Given the description of an element on the screen output the (x, y) to click on. 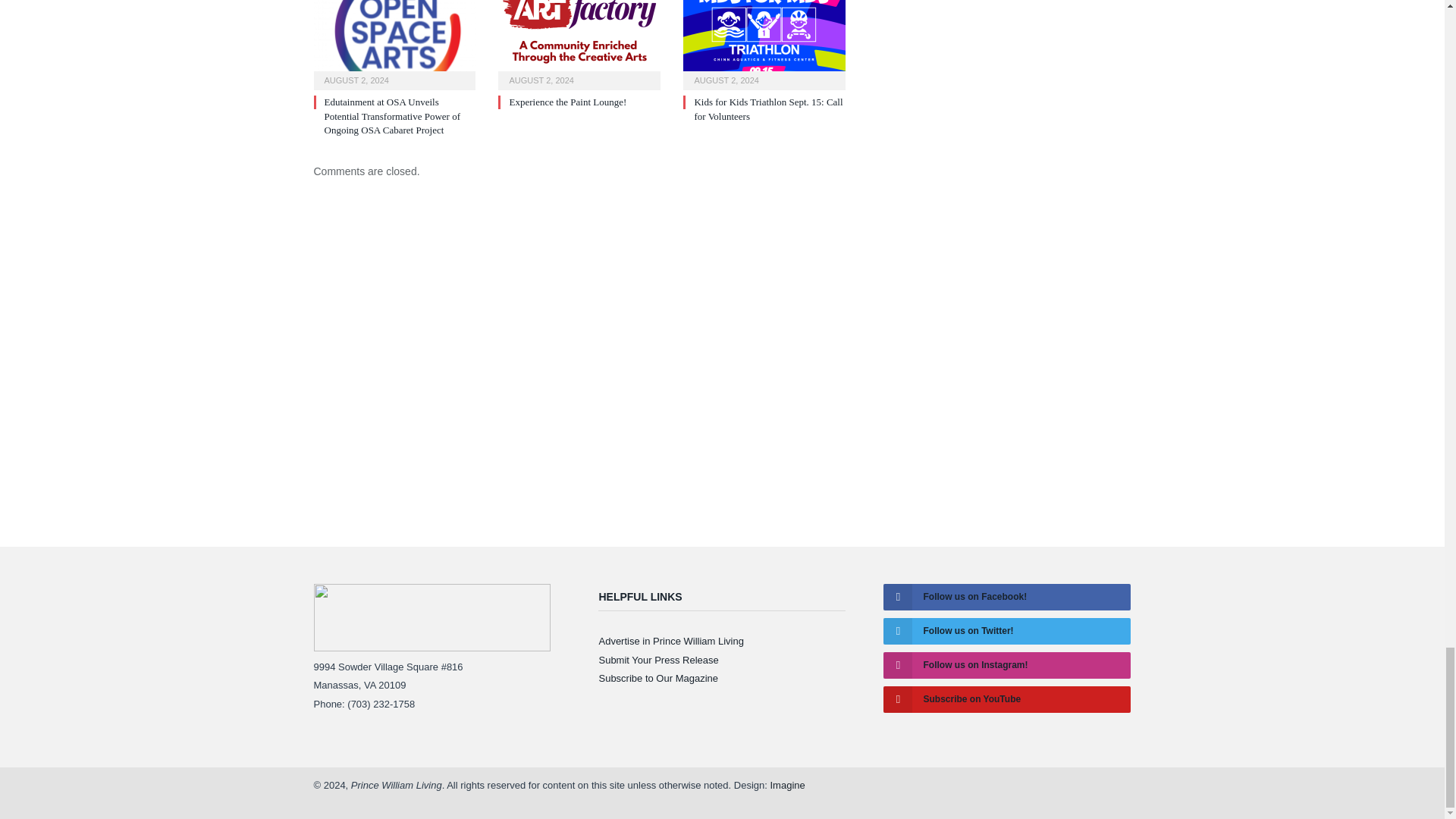
Experience the Paint Lounge! (567, 101)
Kids for Kids Triathlon Sept. 15: Call for Volunteers (763, 43)
Experience the Paint Lounge! (579, 43)
